Given the description of an element on the screen output the (x, y) to click on. 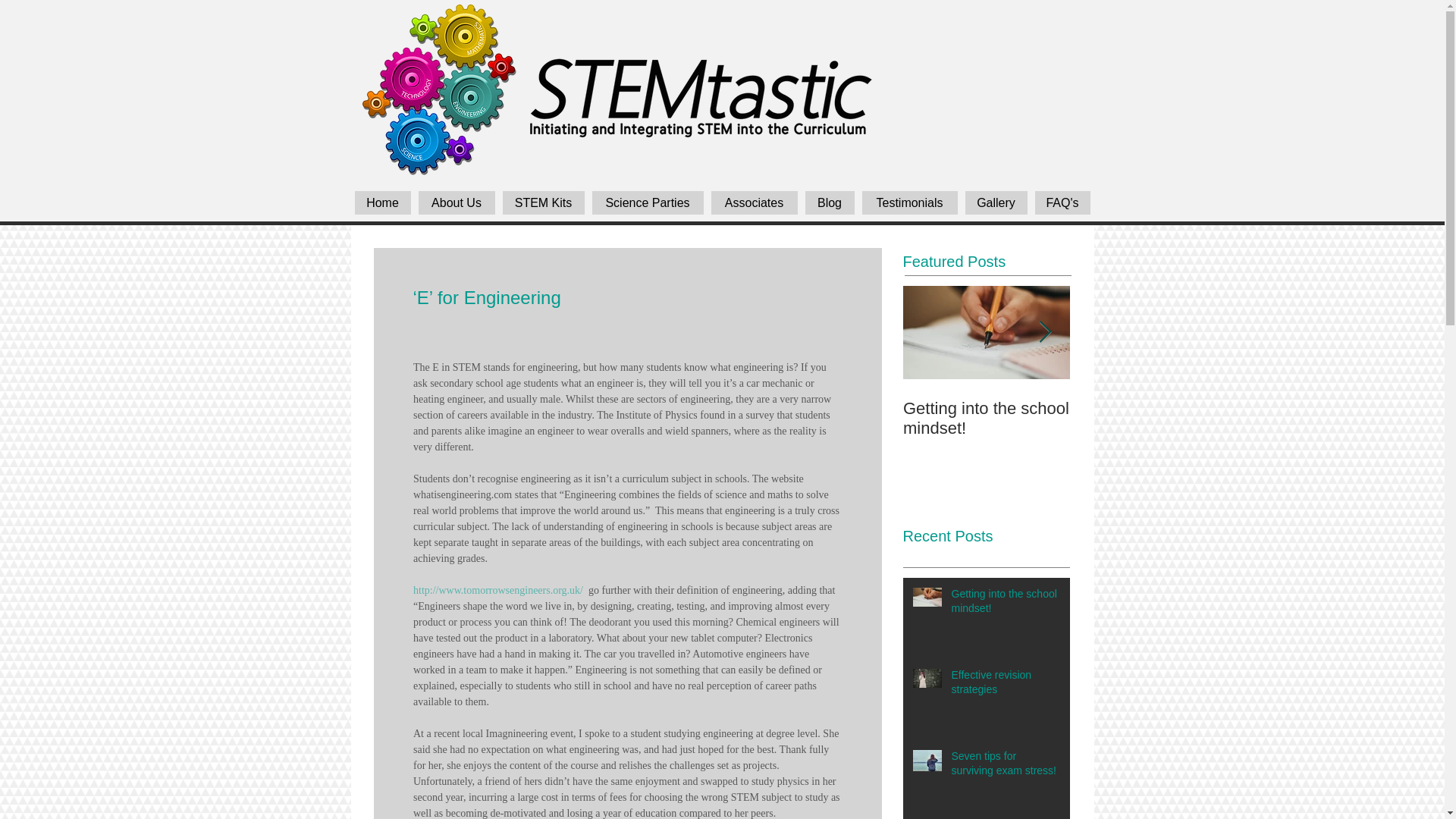
Blog (829, 202)
FAQ's (1061, 202)
Christmas in the curriculum! (1152, 418)
Effective revision strategies (1004, 685)
STEM Kits (542, 202)
stemtastic (701, 99)
Getting into the school mindset! (1004, 604)
Gallery (994, 202)
Seven tips for surviving exam stress! (1004, 766)
About Us (457, 202)
Getting into the school mindset! (985, 418)
Science Parties (647, 202)
Testimonials (908, 202)
